Given the description of an element on the screen output the (x, y) to click on. 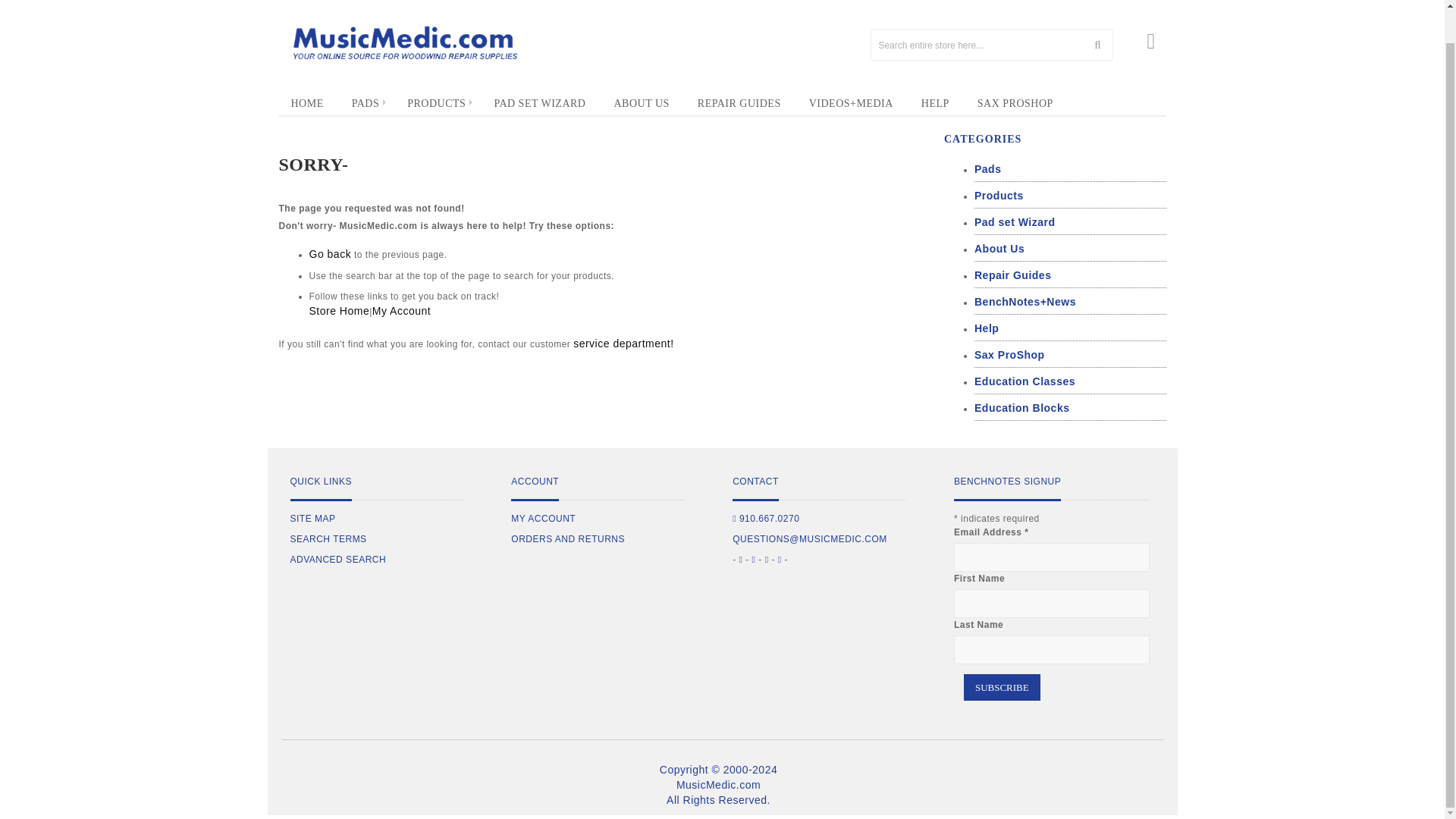
MusicMedic.com (402, 42)
Search (1097, 44)
PADS (365, 103)
Search (1097, 44)
PADS (365, 103)
HOME (307, 103)
Home (307, 103)
